Given the description of an element on the screen output the (x, y) to click on. 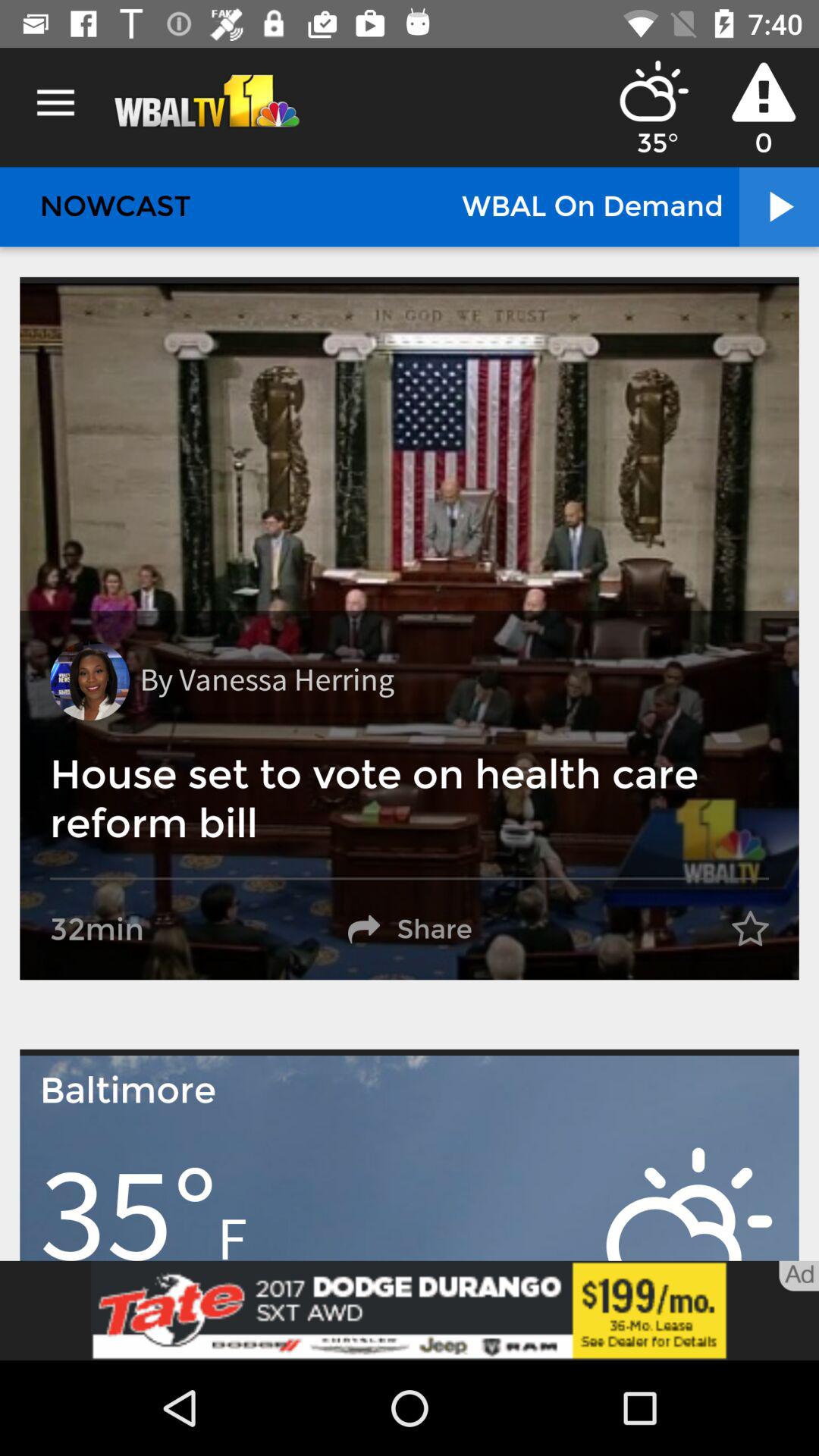
open advertisement (409, 1310)
